Given the description of an element on the screen output the (x, y) to click on. 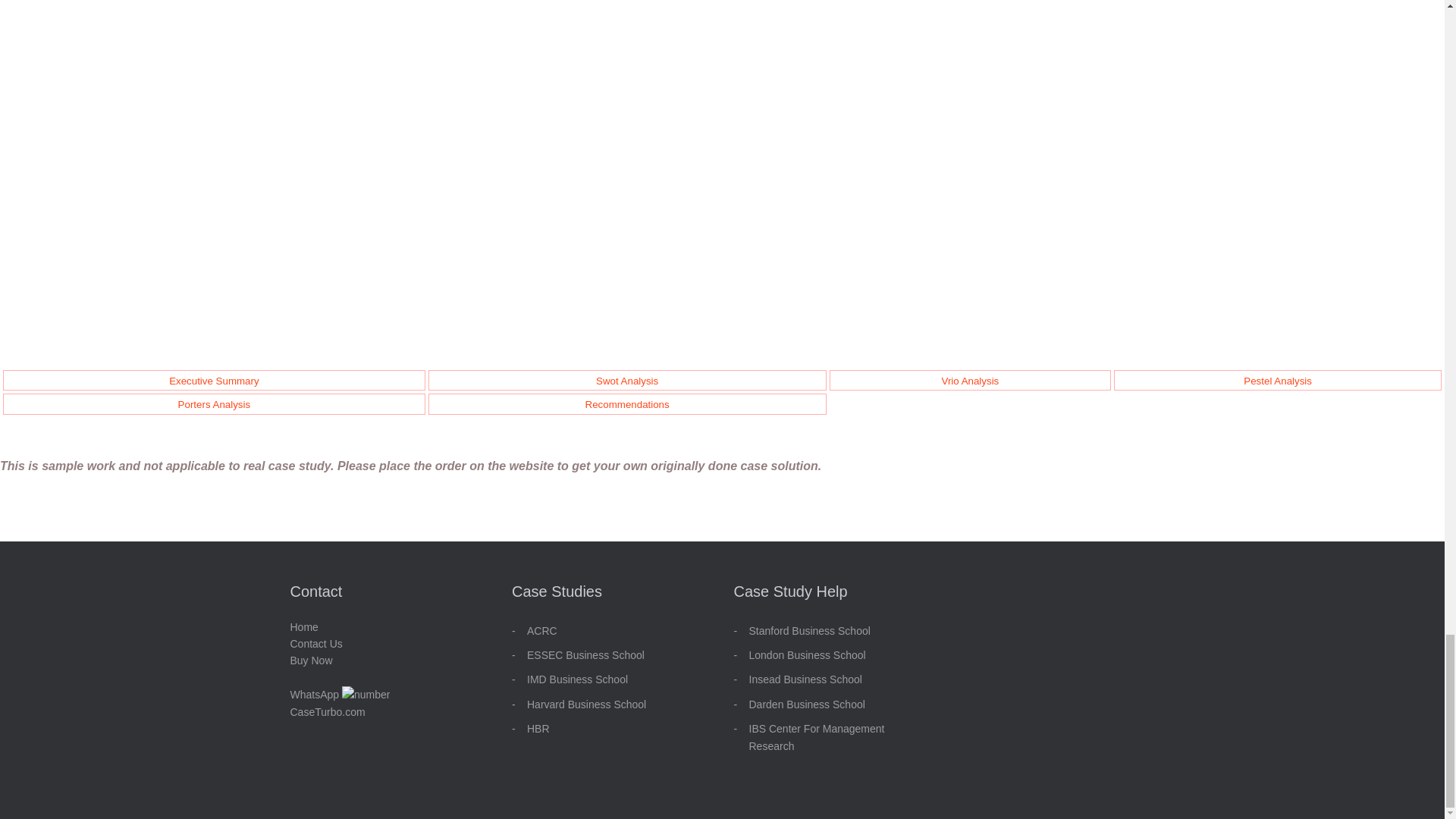
Swot Analysis (626, 380)
Insead Business School (805, 679)
HBR (538, 728)
IBS Center For Management Research (817, 736)
Executive Summary (213, 380)
CRC (545, 630)
Darden Business School (806, 704)
Stanford Business School (809, 630)
WhatsApp (339, 694)
IMD Business School (577, 679)
